Given the description of an element on the screen output the (x, y) to click on. 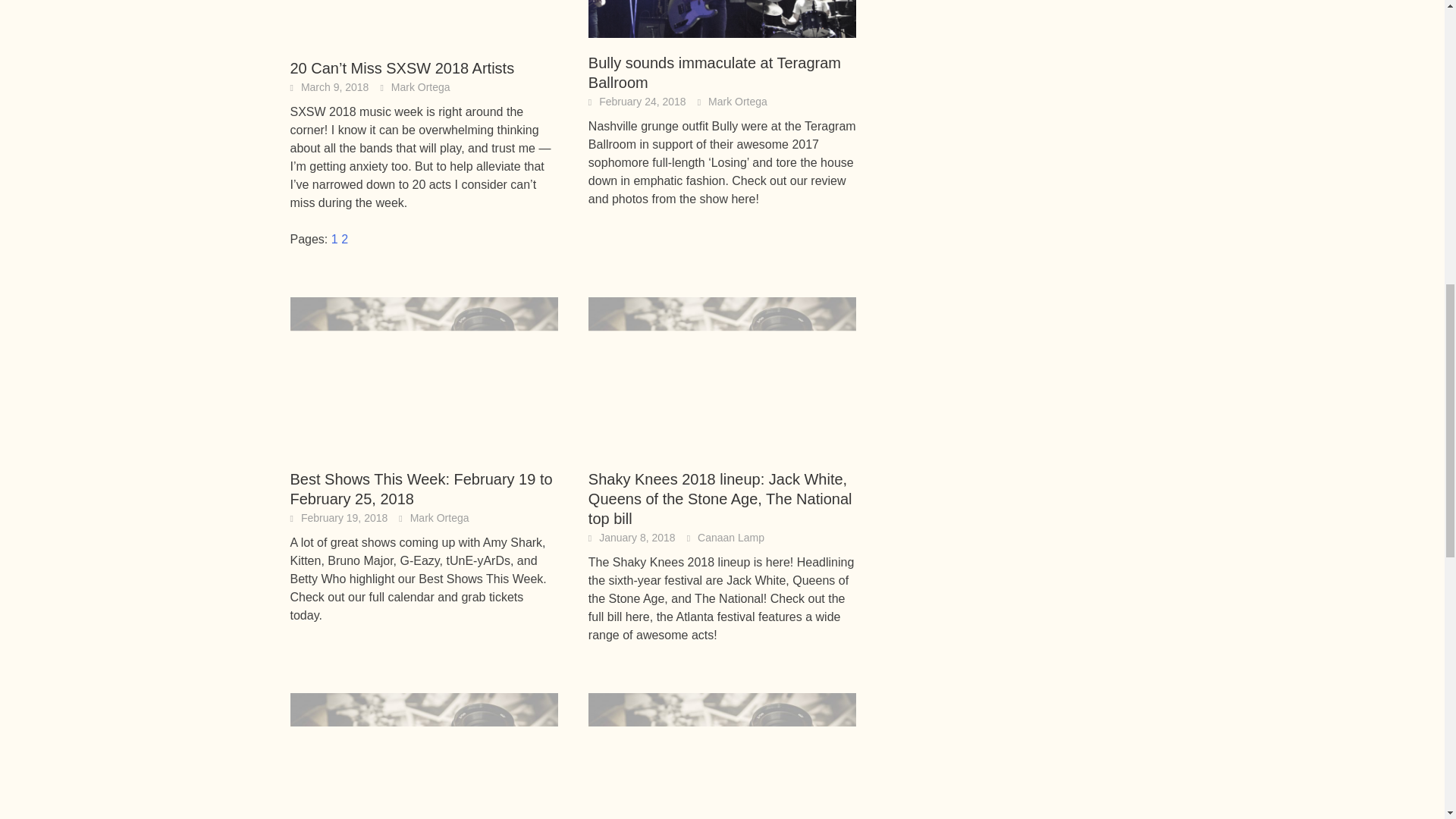
Five Unique Things: Cal Jam 17 (423, 769)
March 9, 2018 (335, 87)
Best Shows This Week: February 19 to February 25, 2018 (423, 373)
